Given the description of an element on the screen output the (x, y) to click on. 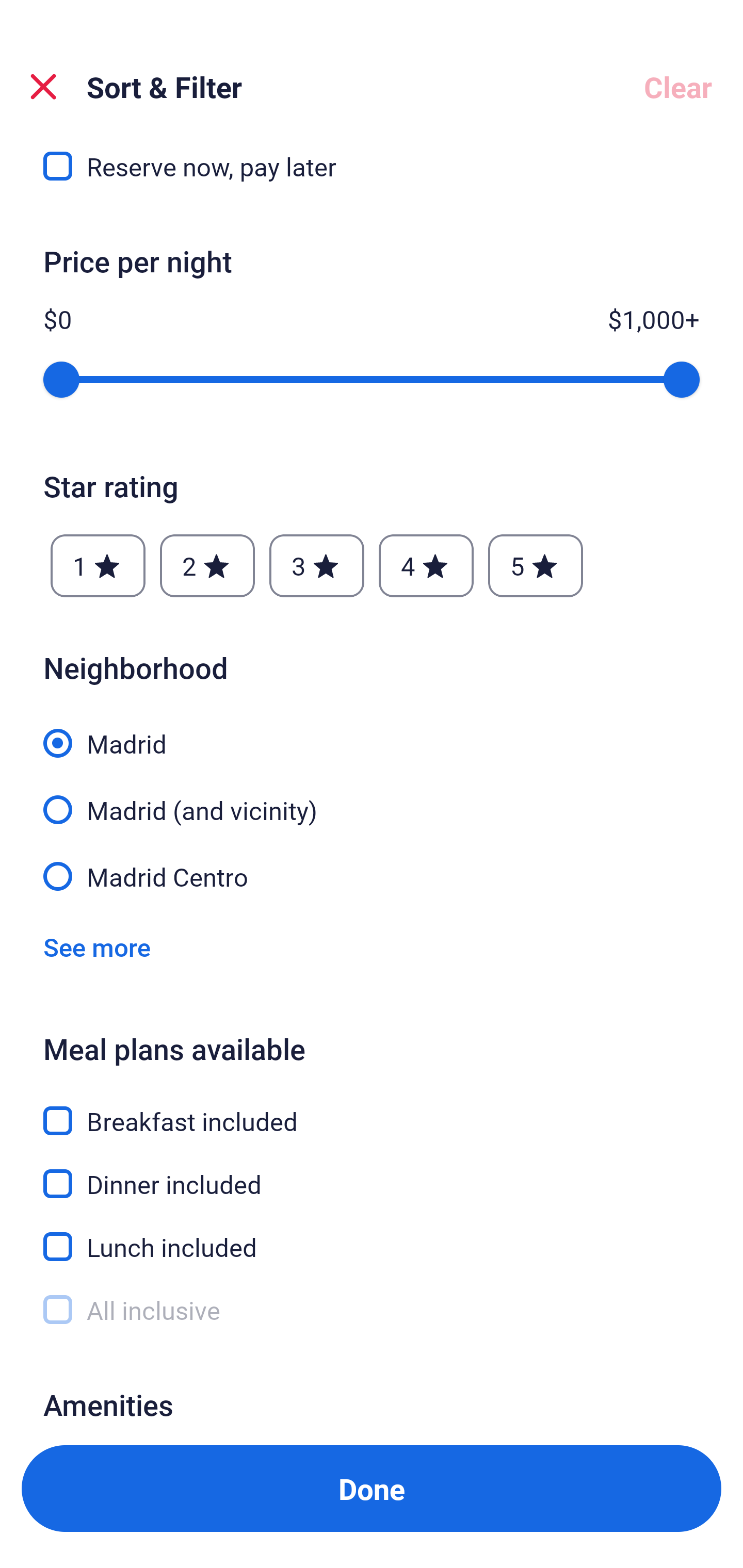
Close Sort and Filter (43, 86)
Clear (677, 86)
Reserve now, pay later, Reserve now, pay later (371, 170)
1 (97, 565)
2 (206, 565)
3 (316, 565)
4 (426, 565)
5 (535, 565)
Madrid (and vicinity) (371, 798)
Madrid Centro (371, 875)
See more See more neighborhoods Link (96, 946)
Breakfast included, Breakfast included (371, 1109)
Dinner included, Dinner included (371, 1172)
Lunch included, Lunch included (371, 1235)
All inclusive, All inclusive (371, 1309)
Apply and close Sort and Filter Done (371, 1488)
